Given the description of an element on the screen output the (x, y) to click on. 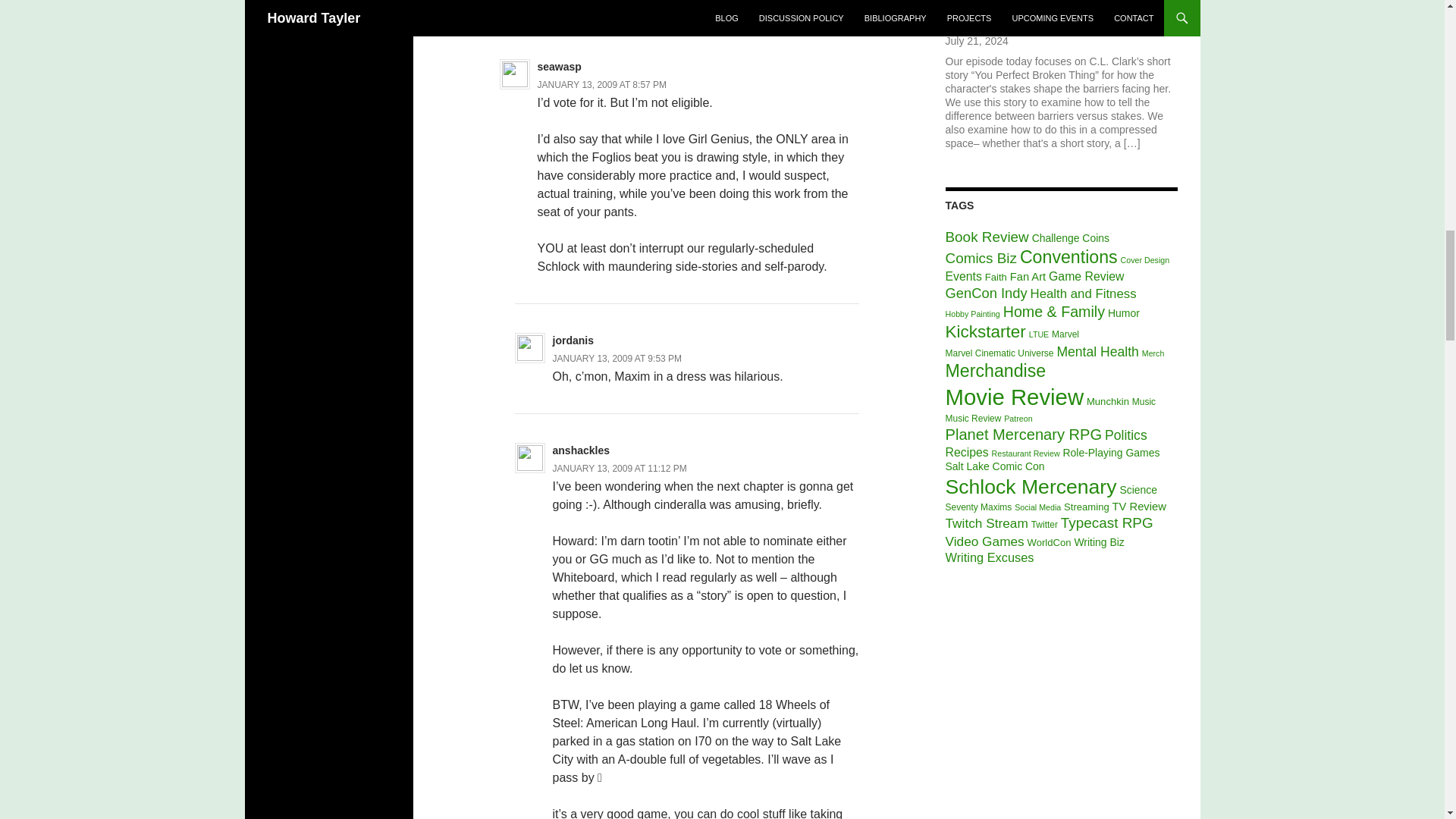
jordanis (573, 340)
seawasp (558, 66)
JANUARY 13, 2009 AT 8:57 PM (601, 84)
